Given the description of an element on the screen output the (x, y) to click on. 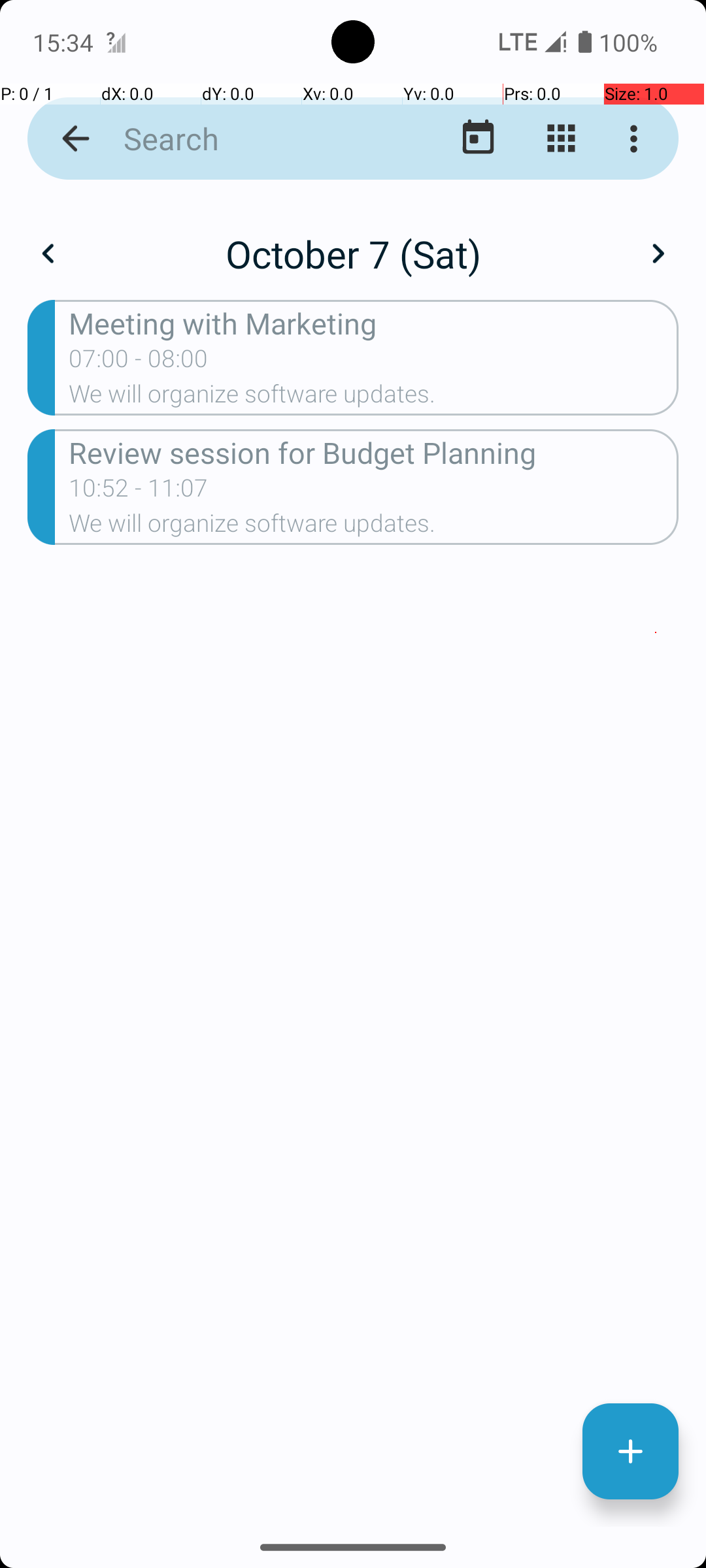
October 7 (Sat) Element type: android.widget.TextView (352, 253)
07:00 - 08:00 Element type: android.widget.TextView (137, 362)
We will organize software updates. Element type: android.widget.TextView (373, 397)
10:52 - 11:07 Element type: android.widget.TextView (137, 491)
